Given the description of an element on the screen output the (x, y) to click on. 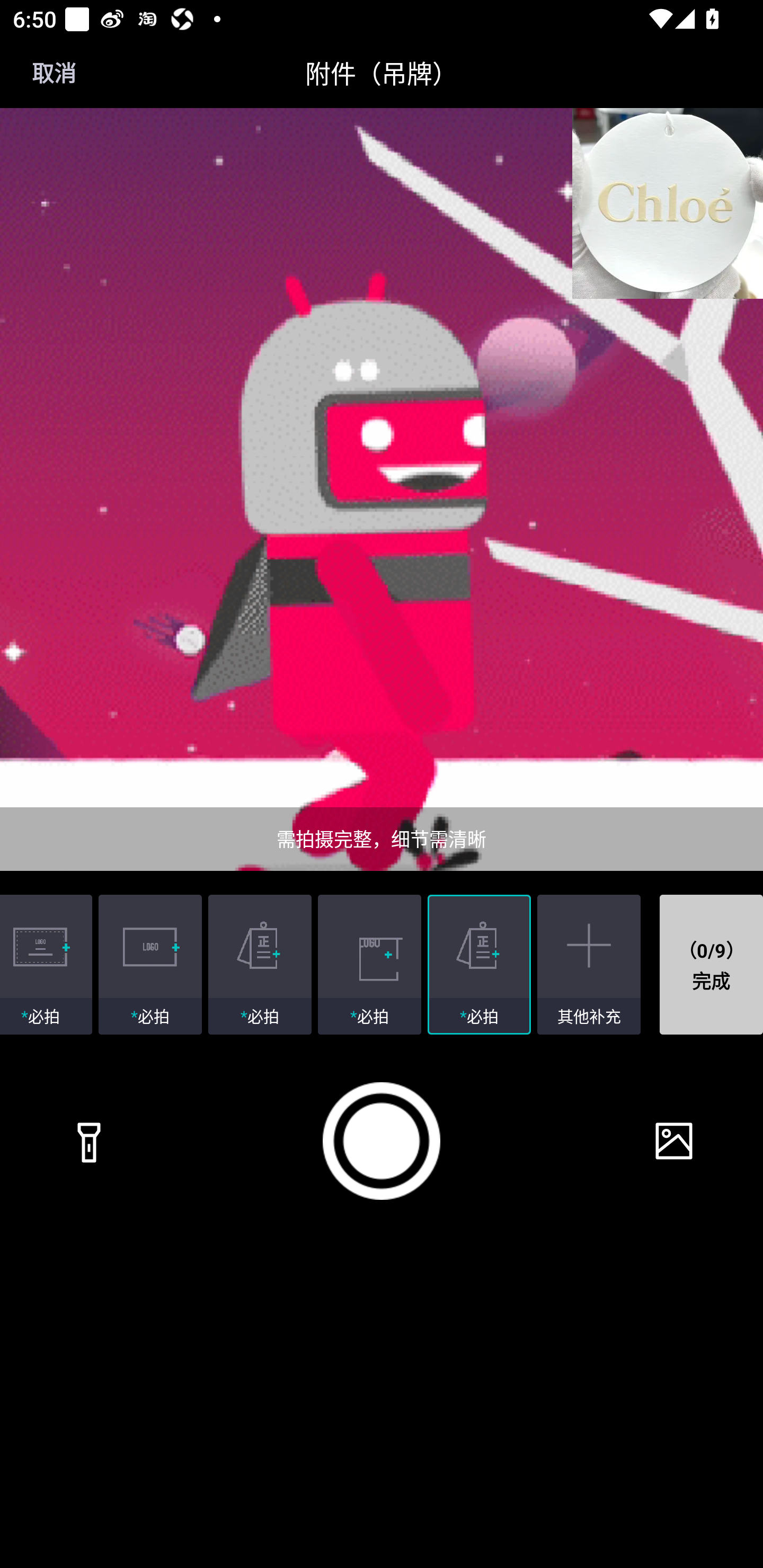
取消 (54, 72)
（0/9）
完成 (711, 964)
